Given the description of an element on the screen output the (x, y) to click on. 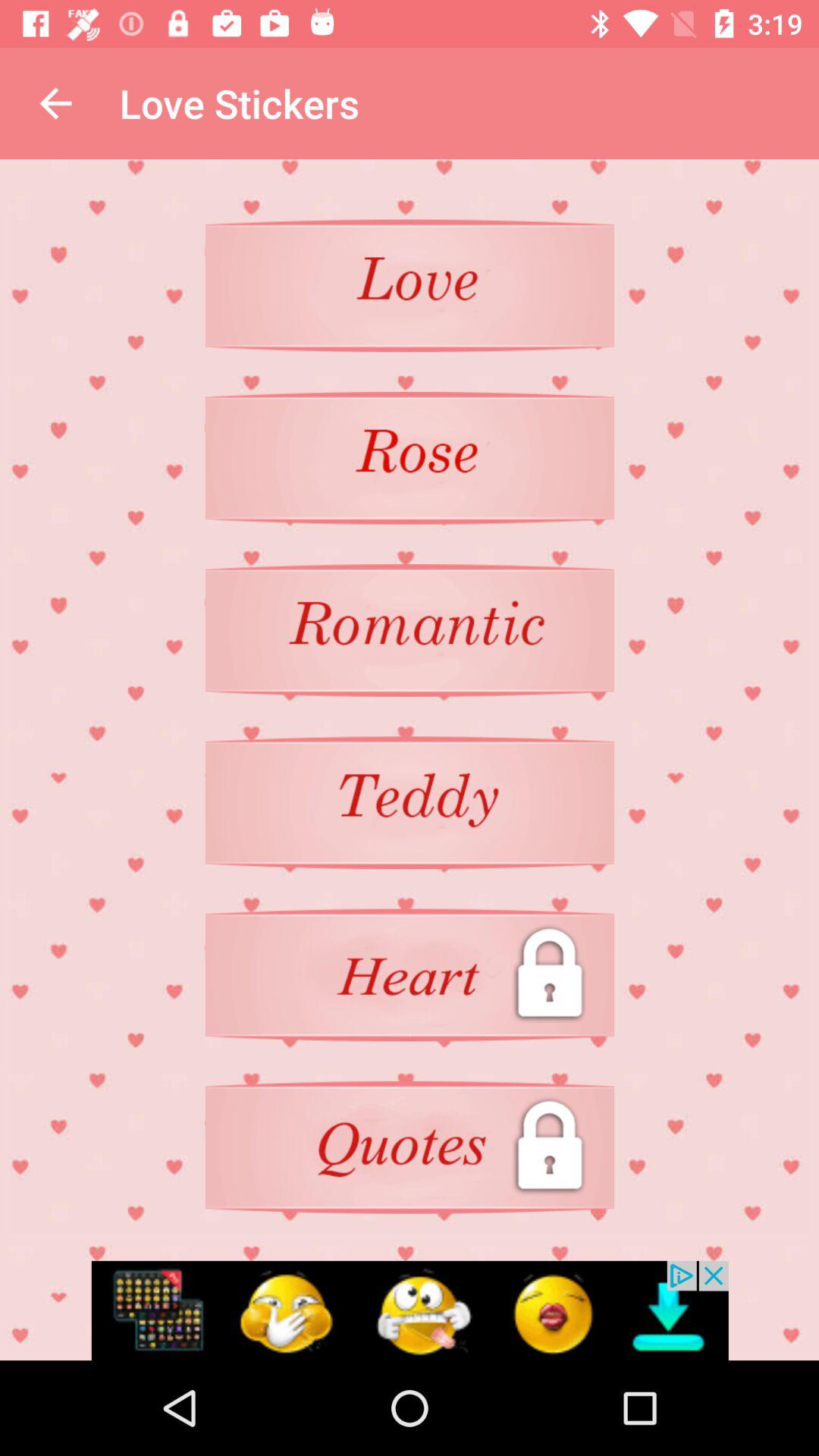
enable notification (409, 1310)
